Given the description of an element on the screen output the (x, y) to click on. 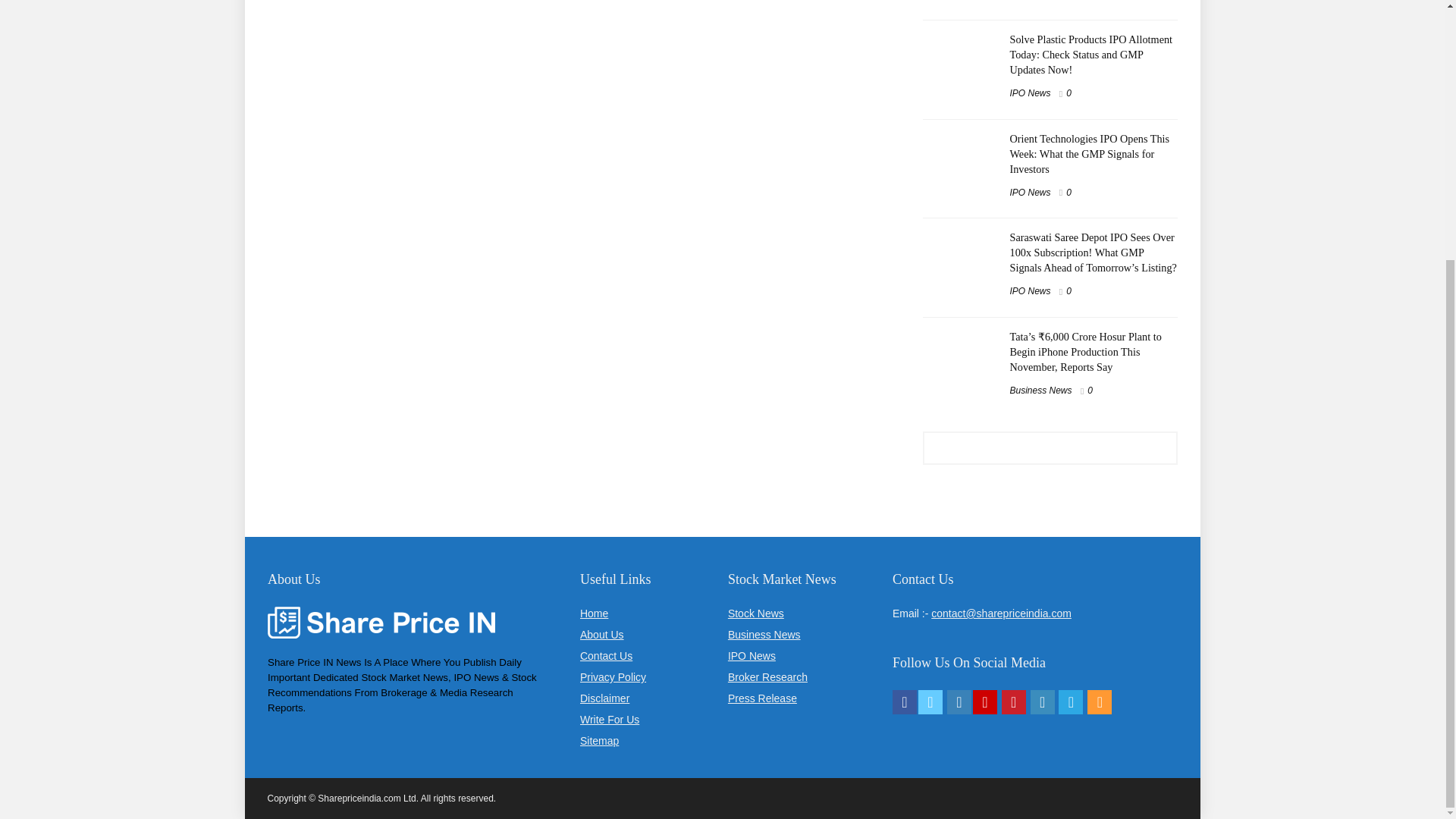
IPO News (1030, 192)
Disclaimer (603, 698)
IPO News (1030, 290)
Home (593, 613)
About Us (601, 634)
Business News (1040, 389)
Write For Us (609, 719)
Contact Us (605, 655)
IPO News (1030, 92)
